Given the description of an element on the screen output the (x, y) to click on. 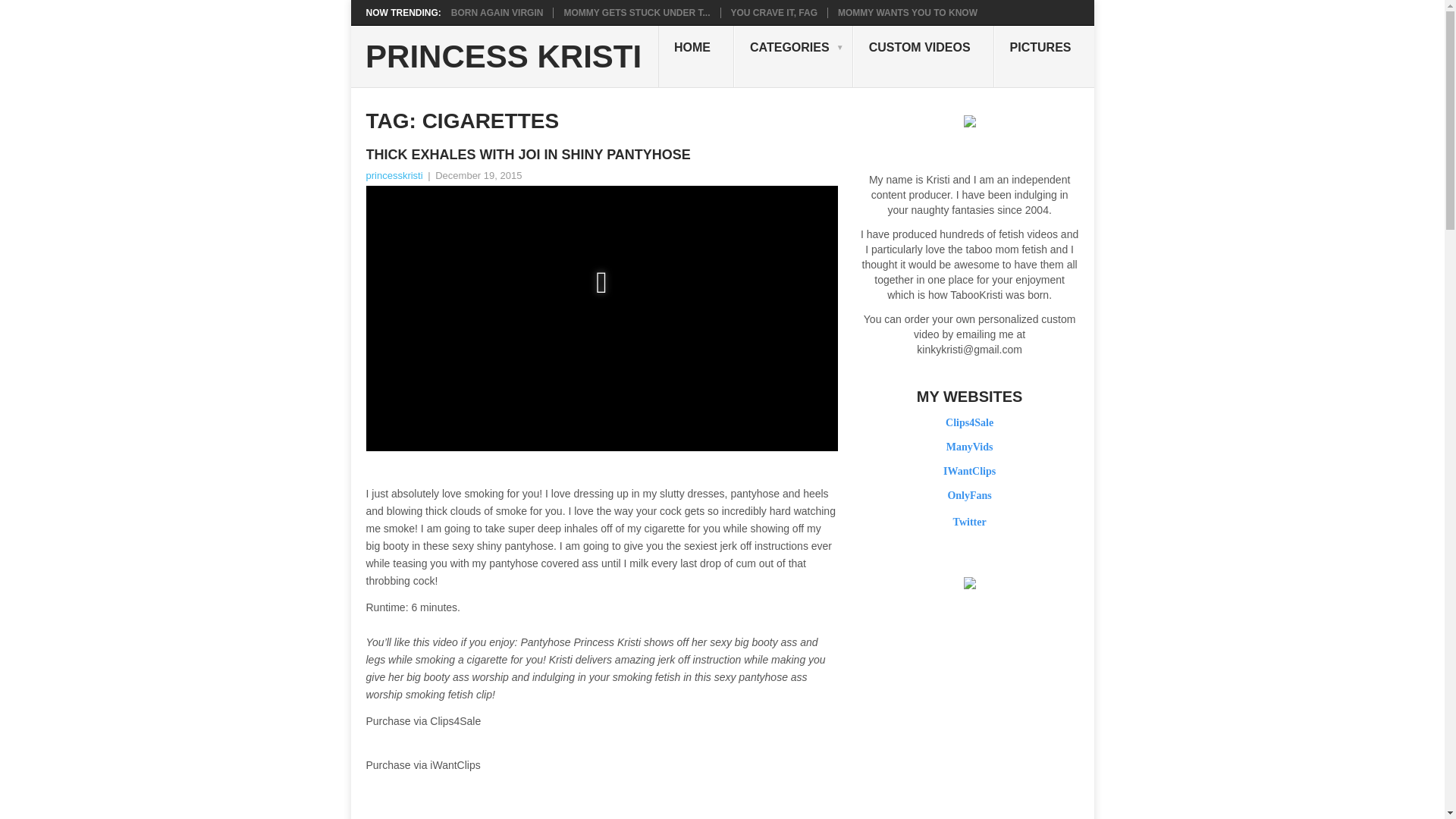
MOMMY GETS STUCK UNDER T... (636, 12)
PRINCESS KRISTI (503, 56)
HOME (695, 56)
YOU CRAVE IT, FAG (773, 12)
You Crave It, Fag (773, 12)
Born Again Virgin (497, 12)
BORN AGAIN VIRGIN (497, 12)
CATEGORIES (793, 56)
Posts by princesskristi (393, 174)
Mommy Gets Stuck Under the Bed (636, 12)
Thick Exhales with JOI in Shiny Pantyhose (601, 154)
MOMMY WANTS YOU TO KNOW (907, 12)
Mommy Wants You to Know (907, 12)
